Given the description of an element on the screen output the (x, y) to click on. 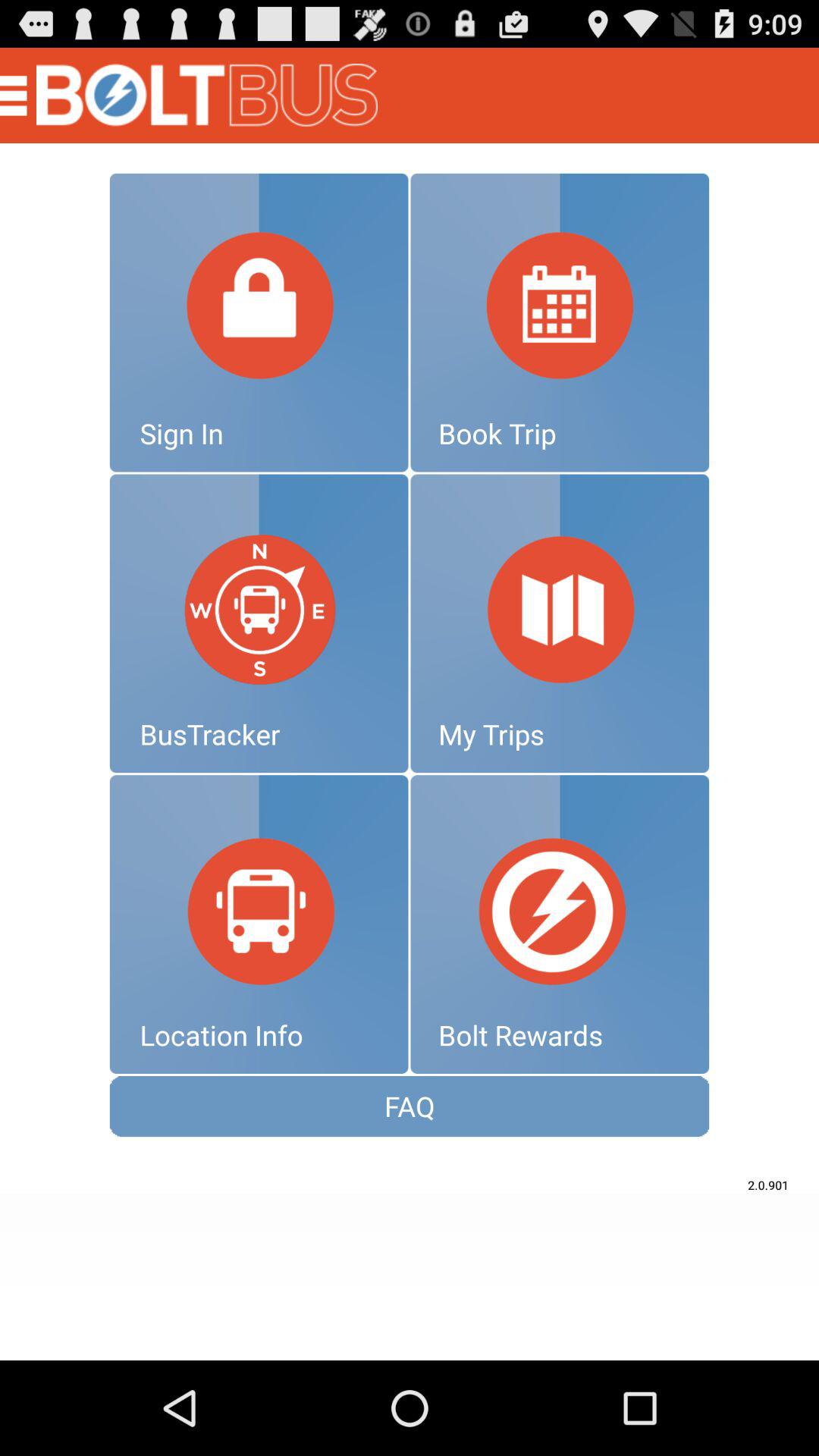
get sign in (258, 322)
